Given the description of an element on the screen output the (x, y) to click on. 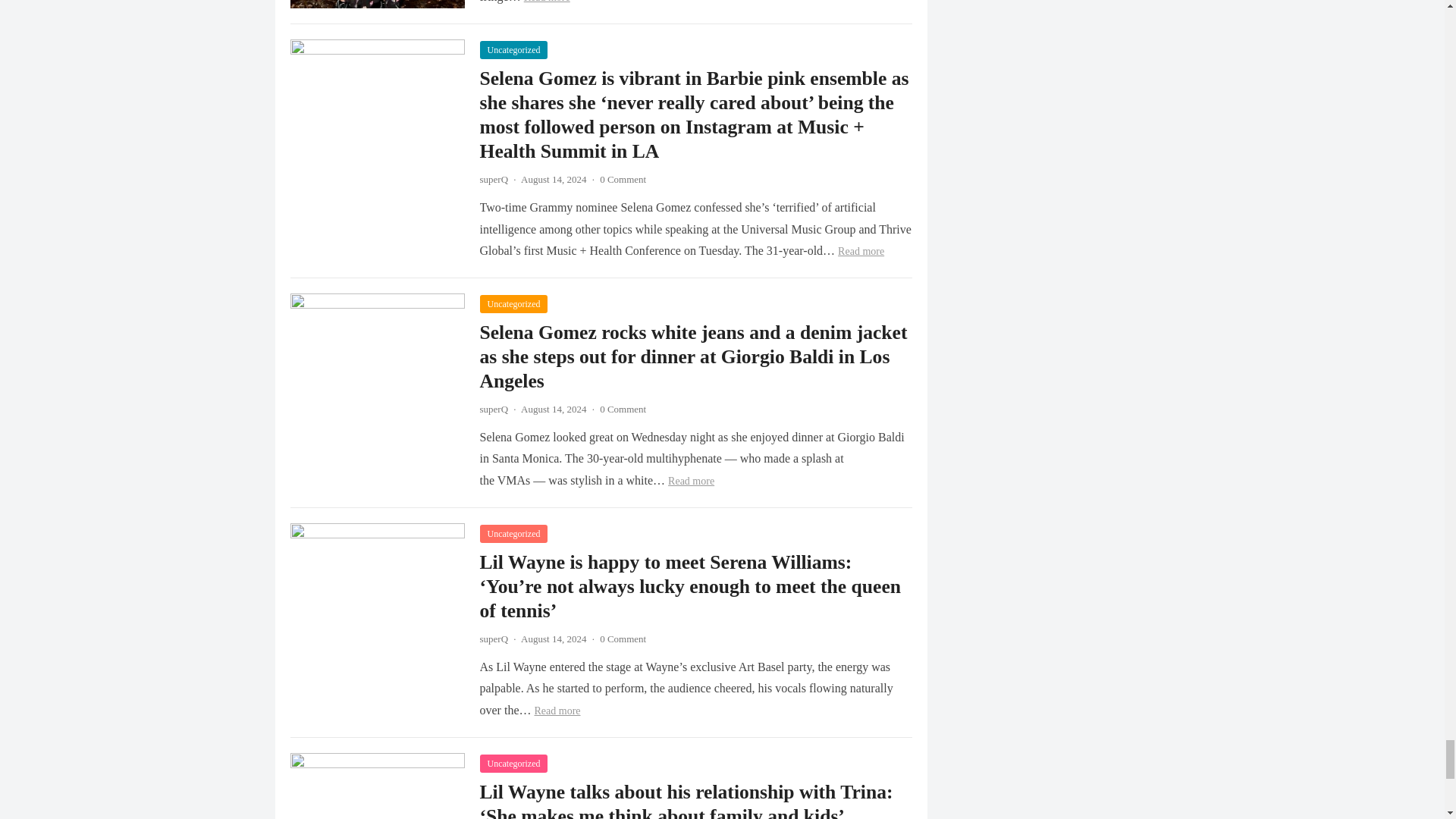
Uncategorized (513, 49)
Posts by superQ (493, 179)
Posts by superQ (493, 638)
Posts by superQ (493, 408)
Read more (547, 1)
